Given the description of an element on the screen output the (x, y) to click on. 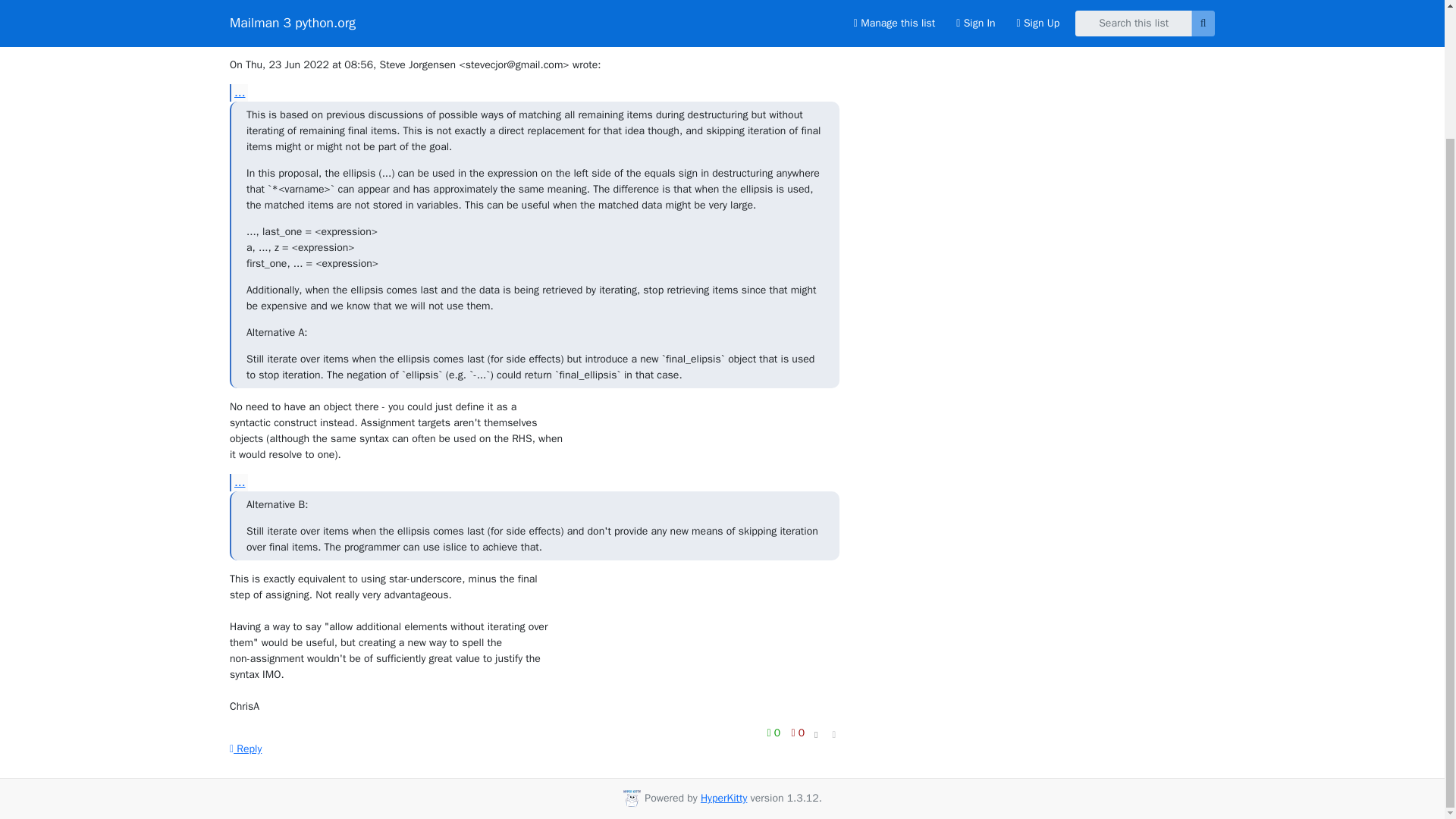
Reply (246, 748)
Back to the list (899, 38)
Back to the thread (907, 12)
Chris Angelico (314, 22)
... (238, 482)
0 (774, 732)
You must be logged-in to vote. (774, 732)
You must be logged-in to vote. (797, 732)
0 (797, 732)
Sender's time: June 23, 2022, 9:20 a.m. (816, 13)
See the profile for Chris Angelico (314, 22)
HyperKitty (724, 797)
... (238, 92)
Reply (246, 748)
